Given the description of an element on the screen output the (x, y) to click on. 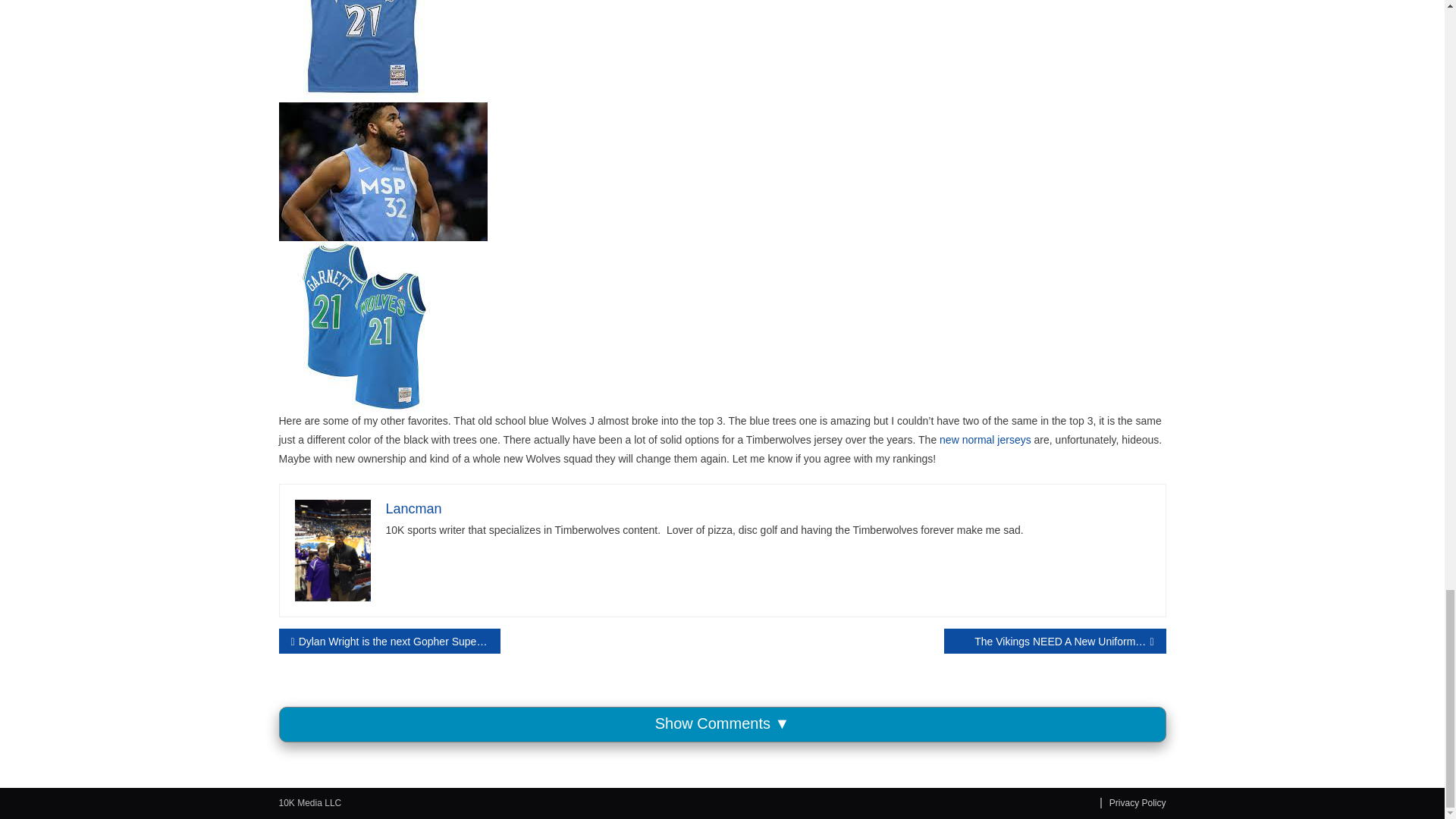
Dylan Wright is the next Gopher Superstar! (389, 640)
Lancman (413, 508)
new normal jerseys (984, 439)
